Given the description of an element on the screen output the (x, y) to click on. 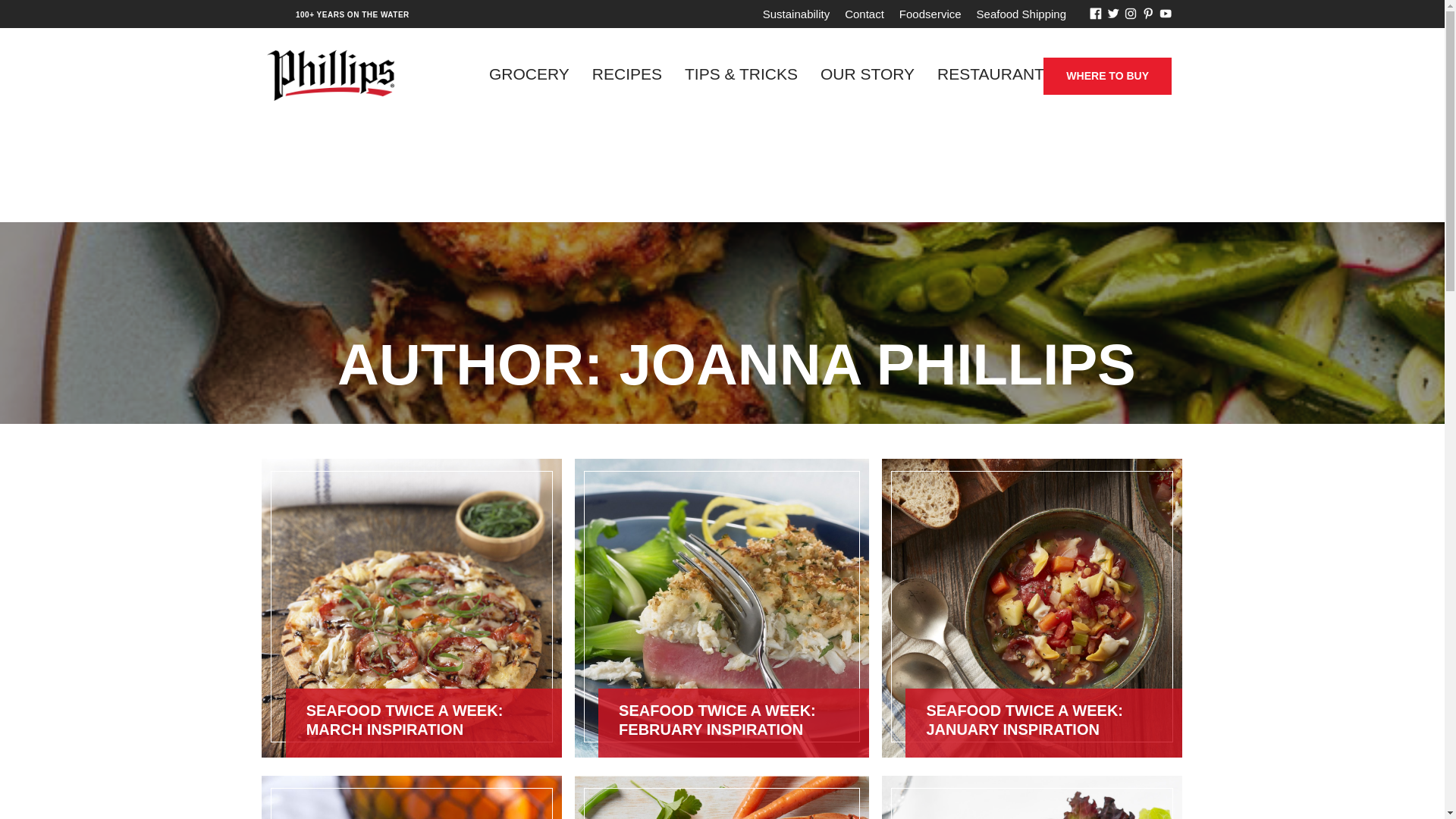
Sustainability (795, 13)
Seafood Shipping (1020, 13)
RESTAURANTS (995, 73)
WHERE TO BUY (1107, 76)
OUR STORY (867, 73)
RECIPES (627, 73)
GROCERY (529, 73)
Contact (863, 13)
Foodservice (929, 13)
